Given the description of an element on the screen output the (x, y) to click on. 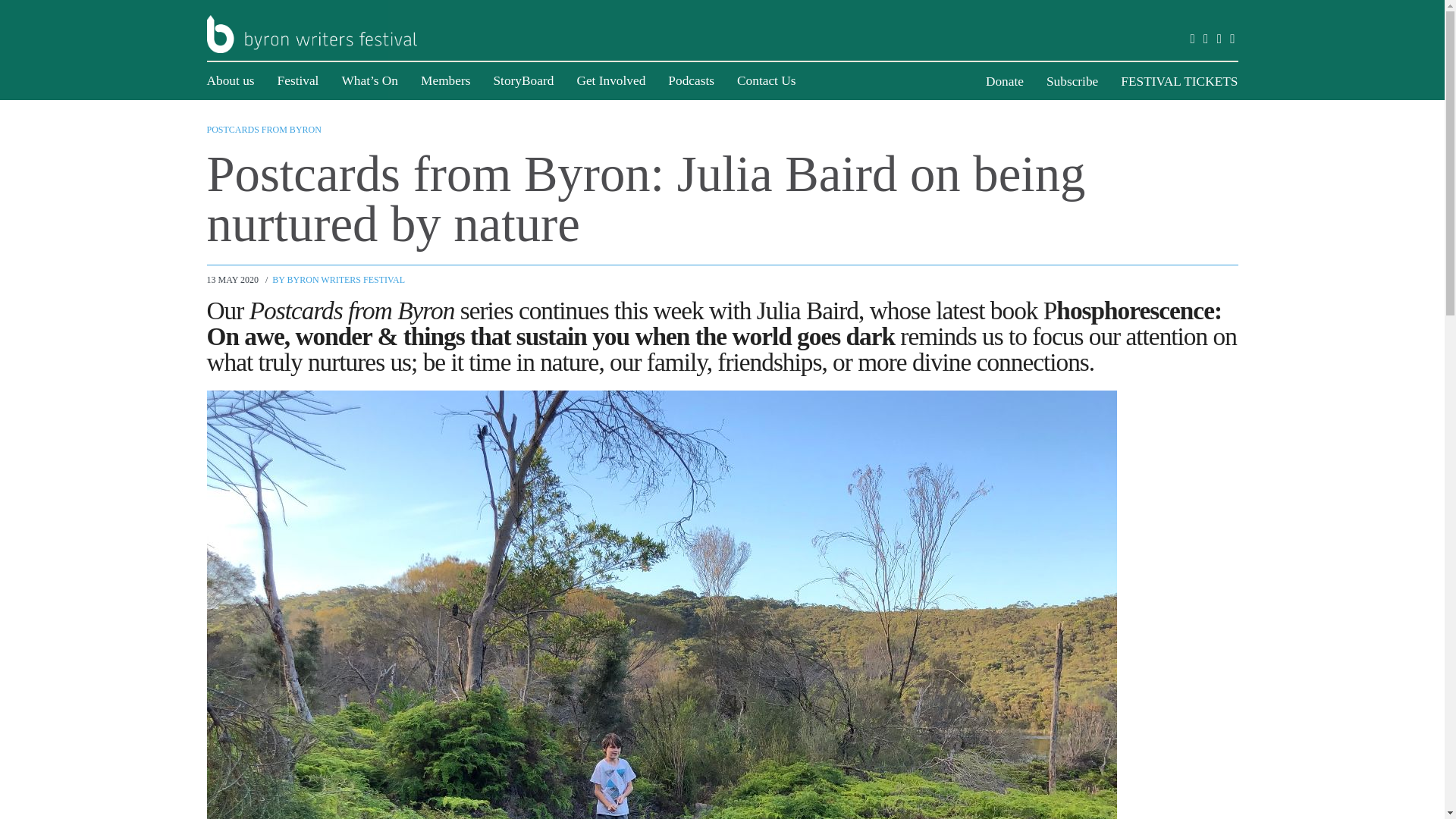
Donate (1004, 81)
Members (445, 80)
FESTIVAL TICKETS (1179, 81)
About us (229, 80)
Subscribe (1071, 81)
Festival (298, 80)
